Given the description of an element on the screen output the (x, y) to click on. 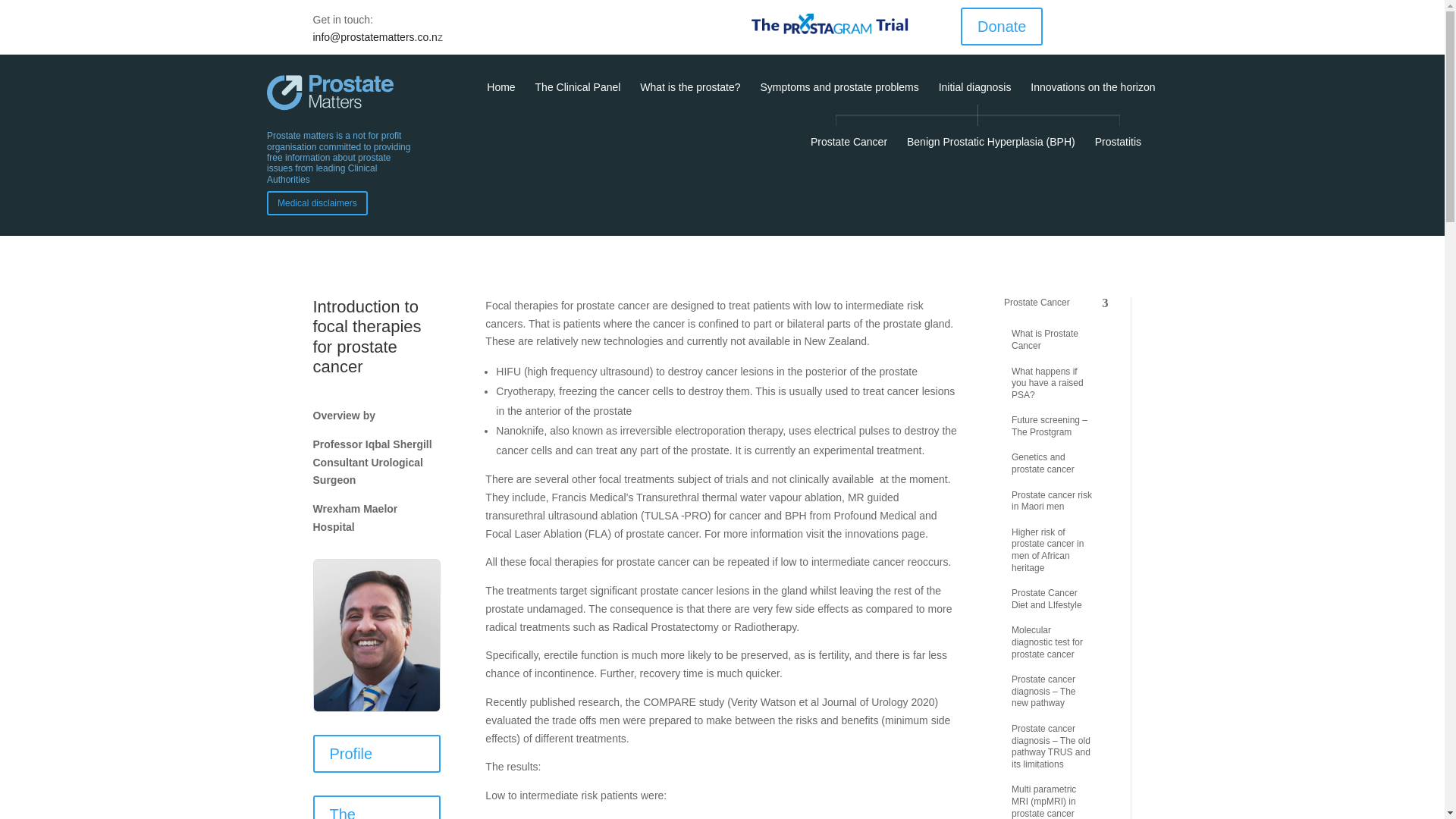
Medical disclaimers (317, 202)
Prostatitis (1117, 149)
Symptoms and prostate problems (839, 94)
Innovations on the horizon (1092, 94)
Donate (1001, 26)
Initial diagnosis (975, 94)
Home (500, 94)
The Clinical Panel (578, 94)
What is the prostate? (689, 94)
Prostate Cancer (848, 149)
